Given the description of an element on the screen output the (x, y) to click on. 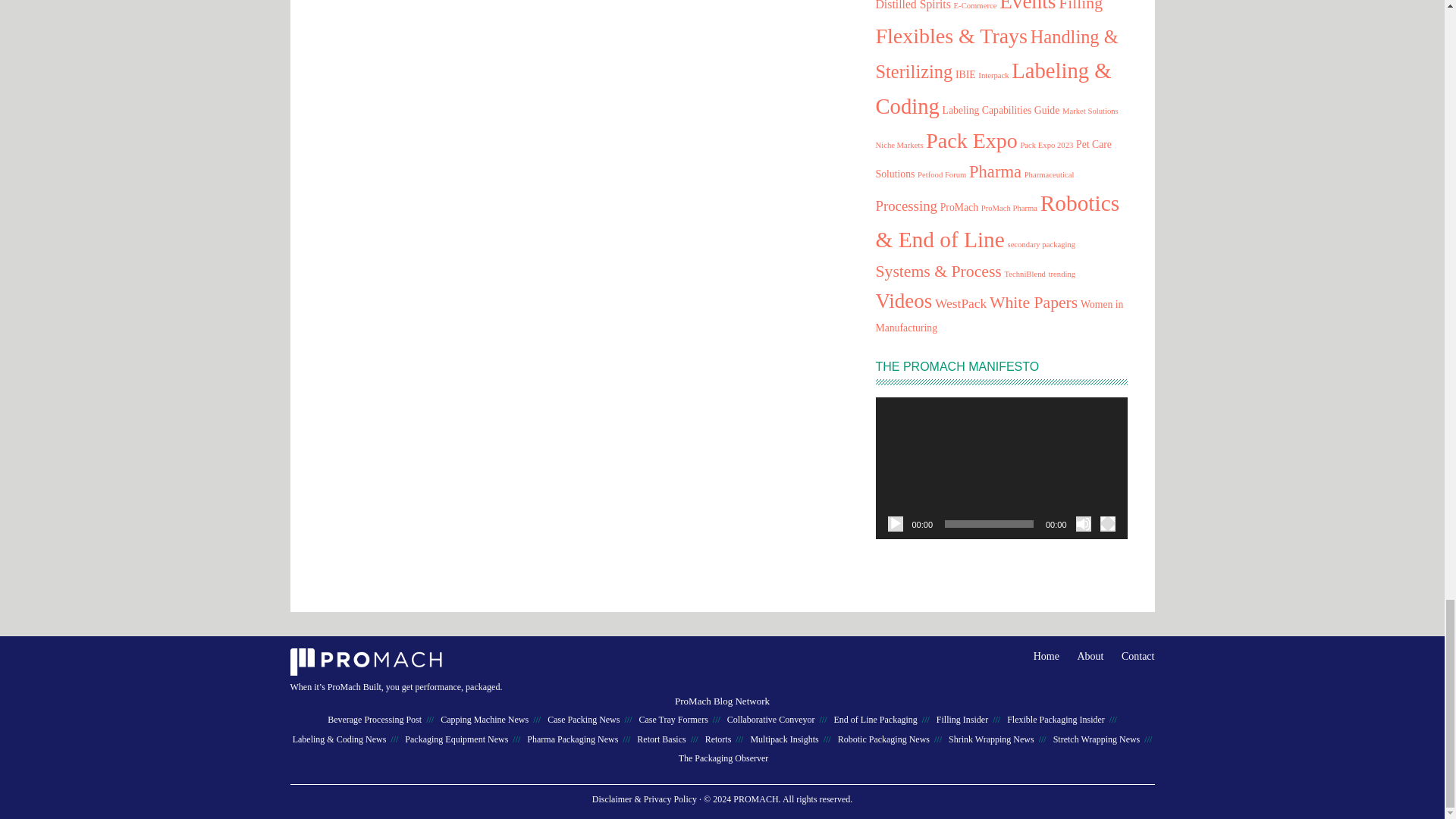
Fullscreen (1107, 523)
Mute (1082, 523)
Play (894, 523)
